Given the description of an element on the screen output the (x, y) to click on. 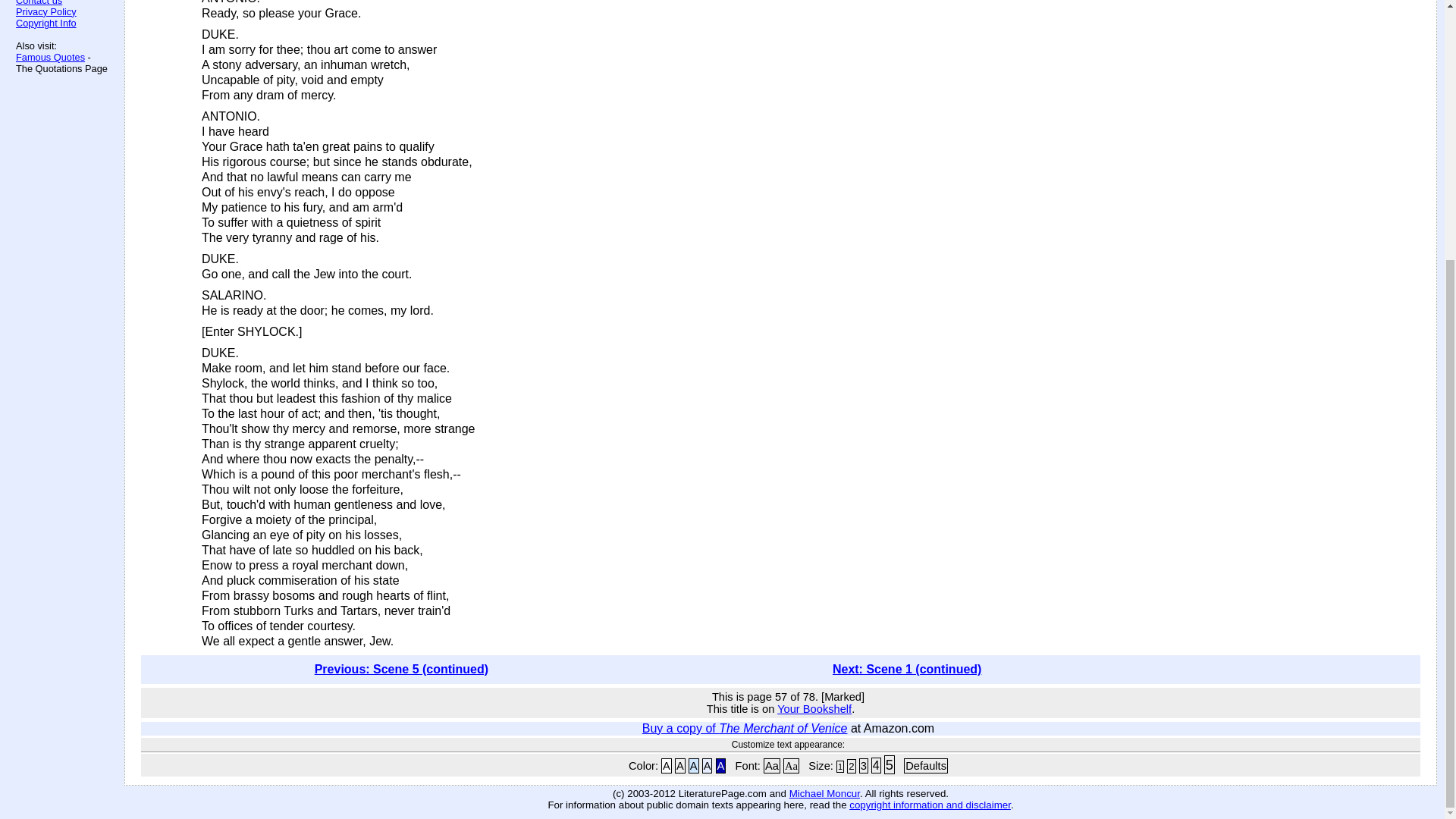
Your Bookshelf (814, 708)
Copyright Info (46, 22)
Defaults (925, 765)
Famous Quotes (50, 57)
Reset to Defaults (925, 765)
Contact us (39, 2)
Aa (791, 765)
copyright information and disclaimer (929, 804)
Buy a copy of The Merchant of Venice (744, 727)
Serif (791, 765)
Aa (771, 765)
Michael Moncur (824, 793)
Privacy Policy (46, 11)
